Given the description of an element on the screen output the (x, y) to click on. 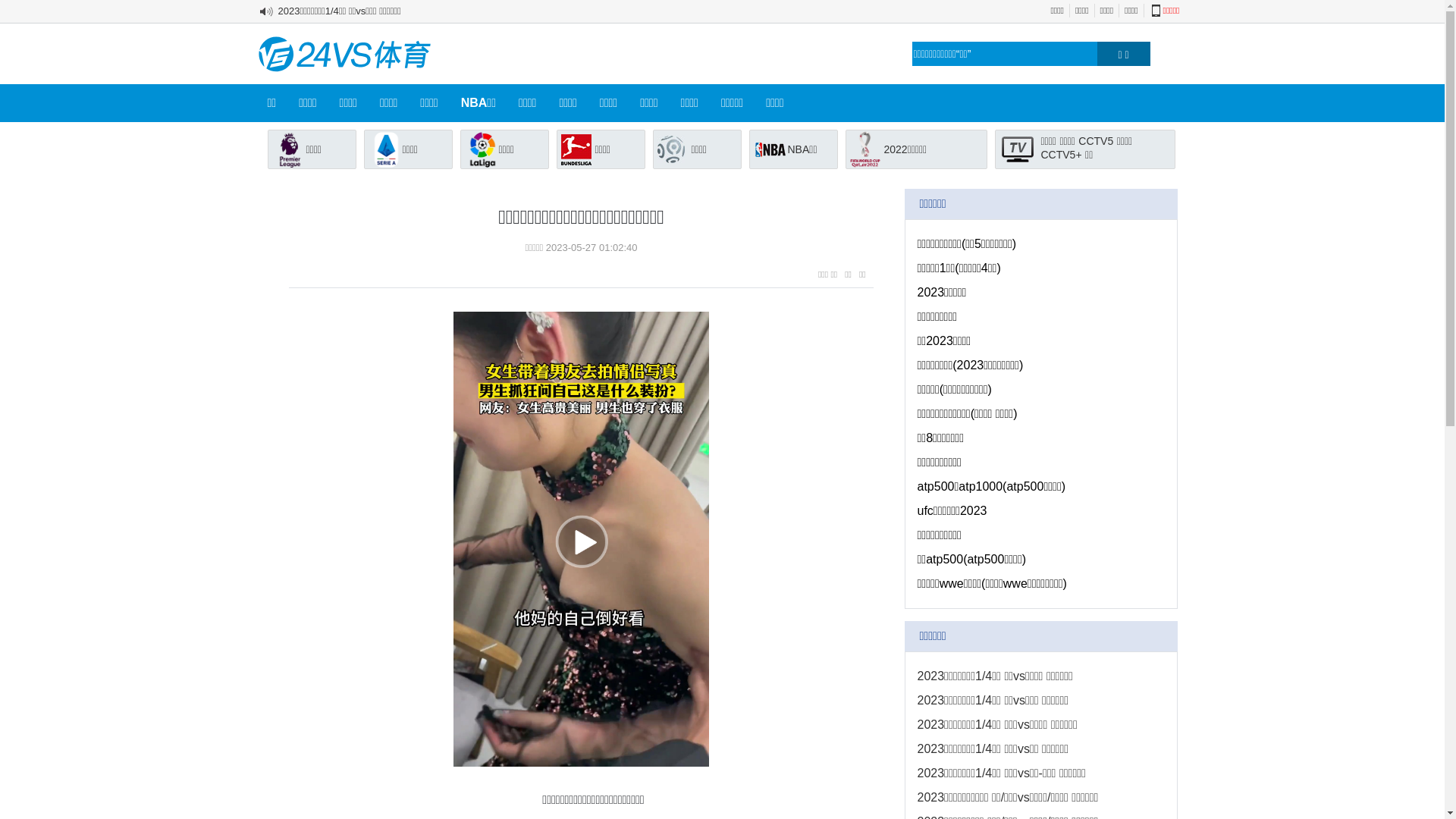
CCTV5 Element type: text (1095, 140)
CCTV5+ Element type: text (1060, 154)
